Given the description of an element on the screen output the (x, y) to click on. 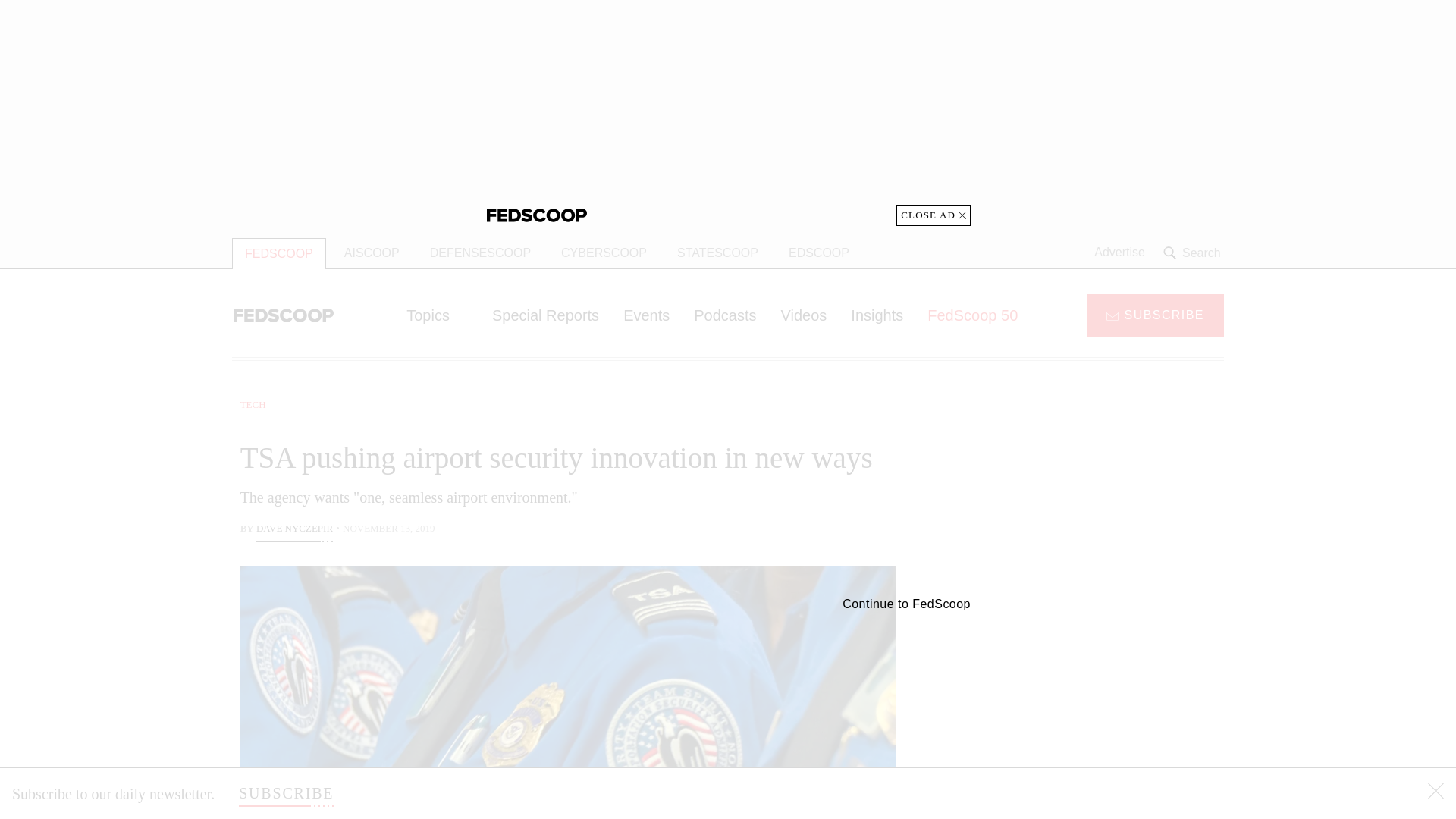
Dave Nyczepir (294, 529)
Videos (804, 315)
FedScoop 50 (972, 315)
Topics (437, 315)
SUBSCRIBE (285, 793)
EDSCOOP (818, 253)
Events (646, 315)
SUBSCRIBE (1155, 314)
3rd party ad content (1101, 492)
